Given the description of an element on the screen output the (x, y) to click on. 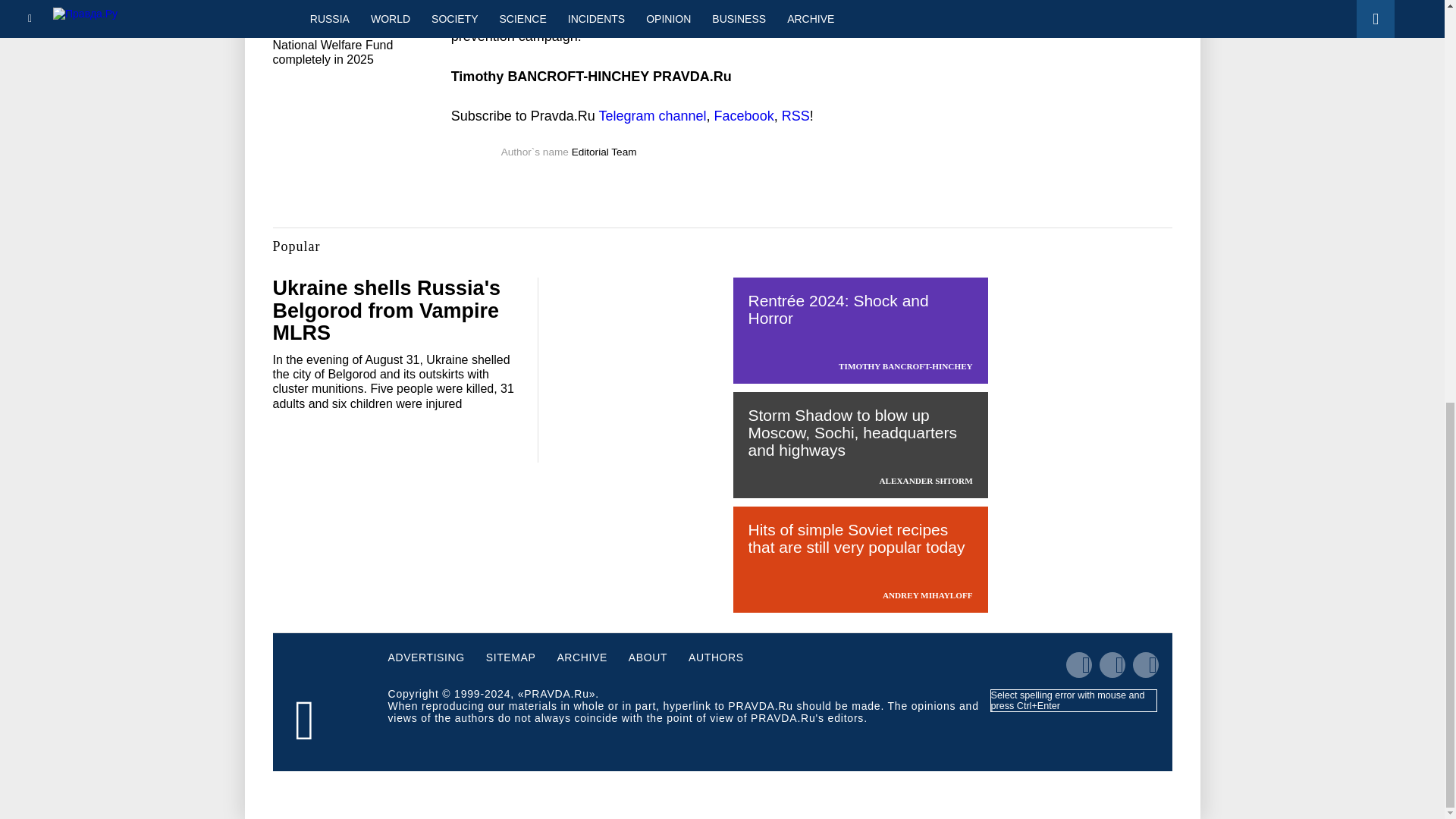
Facebook (744, 115)
Telegram channel (652, 115)
Editorial Team (604, 152)
RSS (795, 115)
Ukraine shells Russia's Belgorod from Vampire MLRS (386, 309)
Back to top (1418, 107)
